Given the description of an element on the screen output the (x, y) to click on. 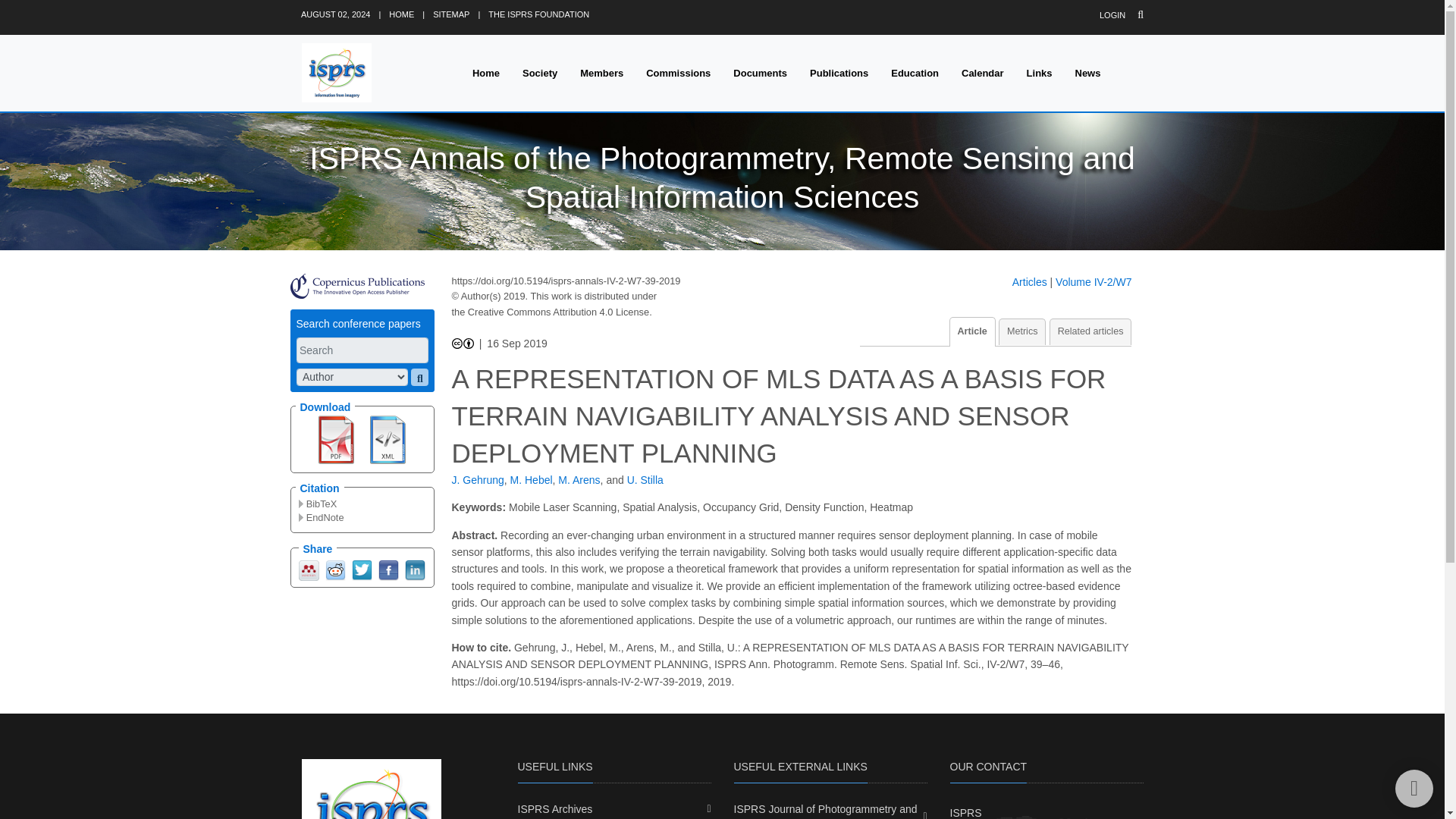
LOGIN (1112, 14)
HOME (400, 13)
Home (485, 73)
SITEMAP (450, 13)
Society (539, 73)
THE ISPRS FOUNDATION (538, 13)
